Given the description of an element on the screen output the (x, y) to click on. 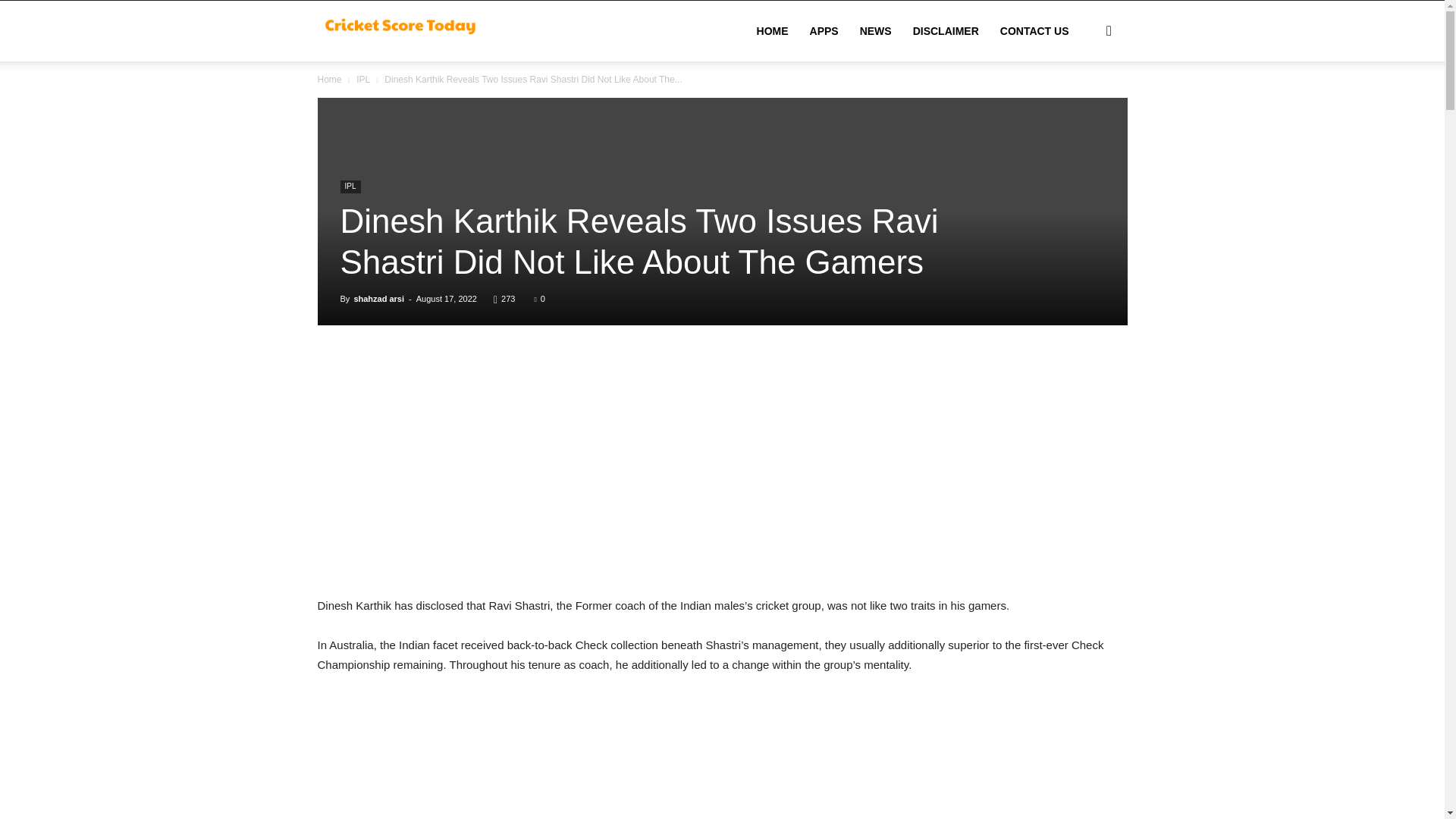
NEWS (875, 30)
IPL (362, 79)
Home (328, 79)
HOME (772, 30)
CONTACT US (1035, 30)
View all posts in IPL (362, 79)
IPL (349, 186)
Cricket Score Today (402, 30)
shahzad arsi (378, 298)
Search (1085, 103)
DISCLAIMER (946, 30)
APPS (823, 30)
0 (539, 298)
